Given the description of an element on the screen output the (x, y) to click on. 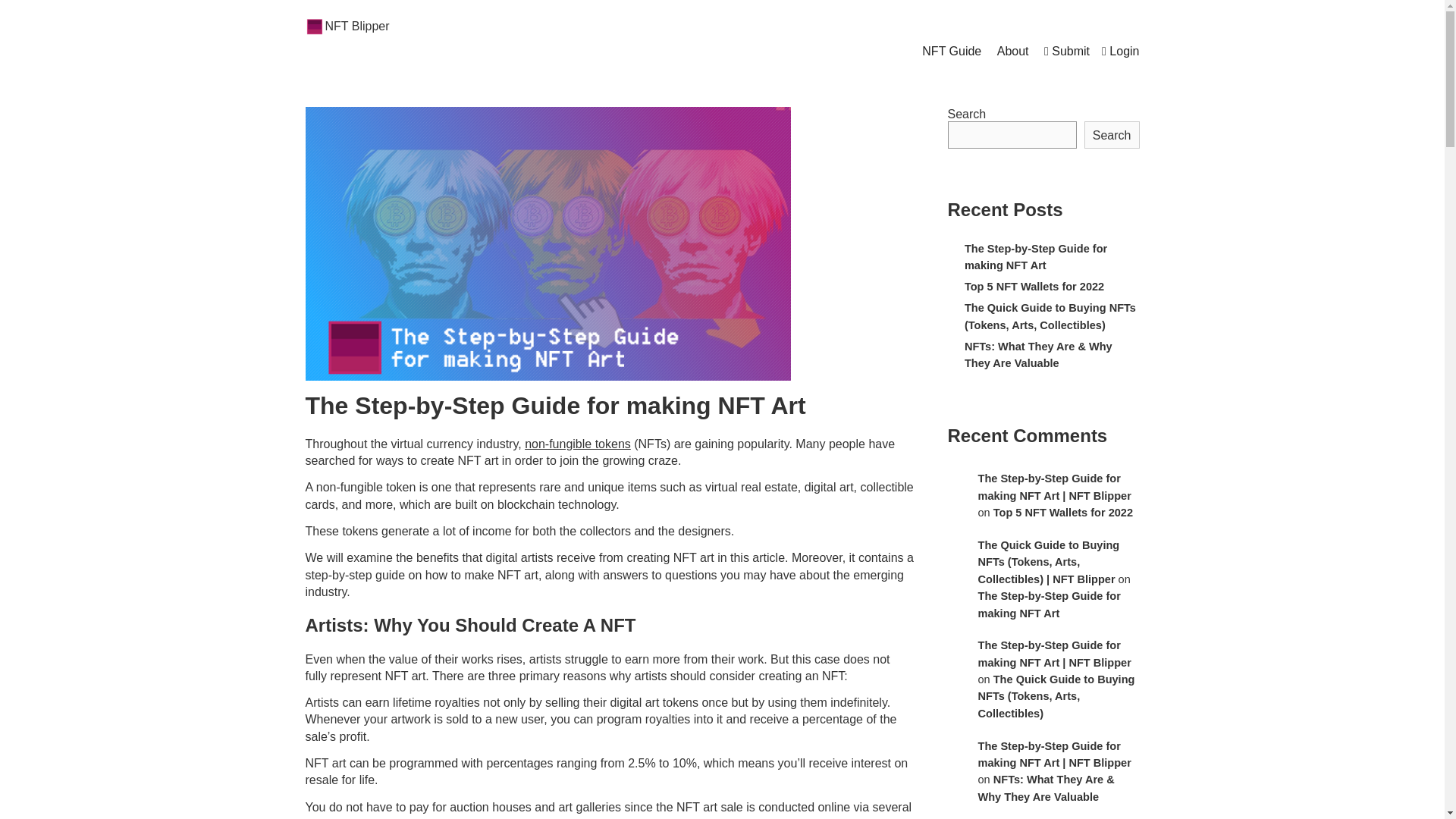
non-fungible tokens (577, 443)
NFT Guide (951, 51)
Go to homepage (356, 25)
Search (1112, 134)
Submit (1066, 51)
About (1013, 51)
The Step-by-Step Guide for making NFT Art (1034, 256)
Login (1120, 51)
Top 5 NFT Wallets for 2022 (1033, 286)
NFT Blipper (356, 25)
